Given the description of an element on the screen output the (x, y) to click on. 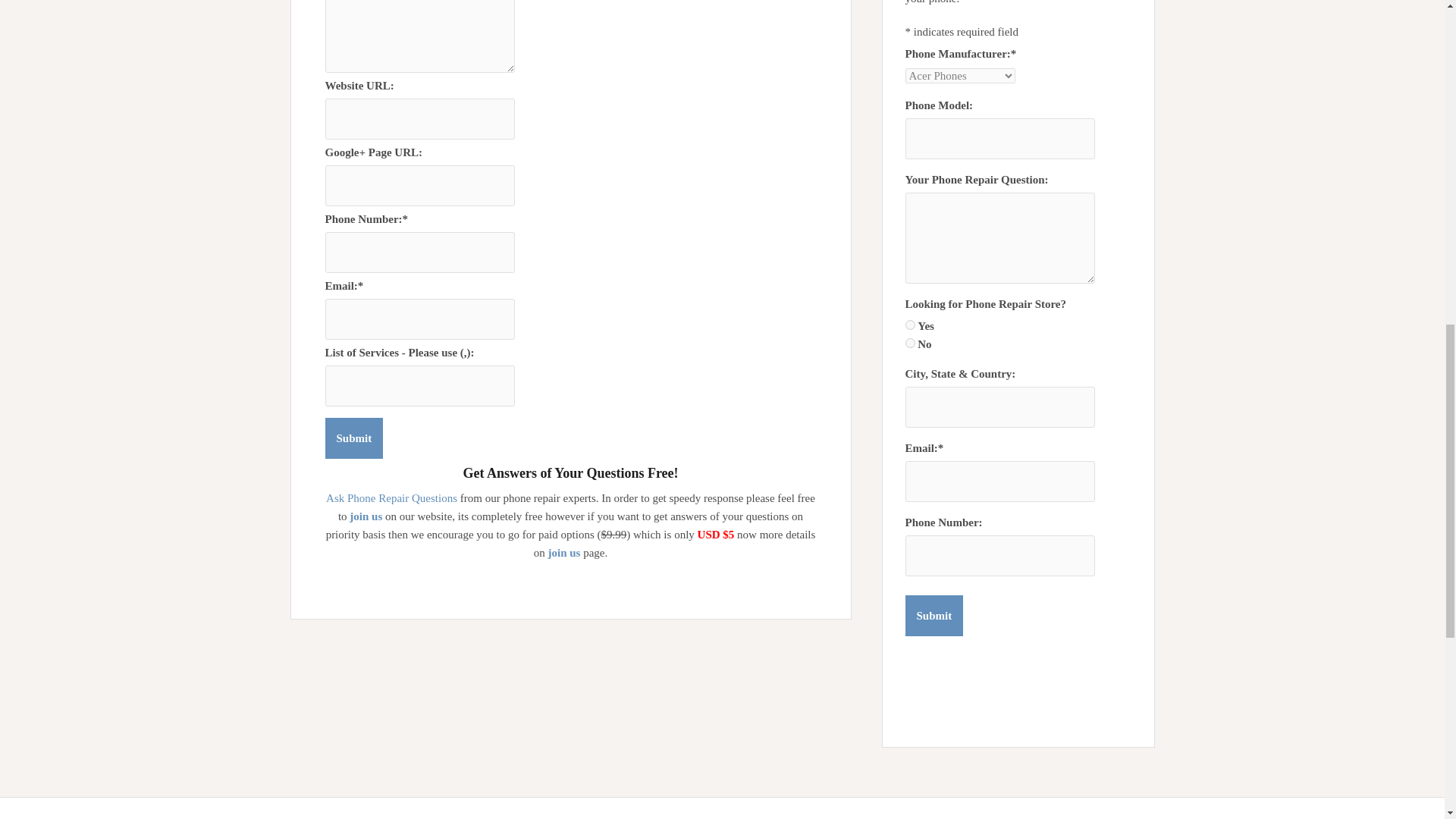
Submit (353, 437)
join us (563, 552)
Submit (353, 437)
Submit (934, 615)
2 (910, 343)
join us (365, 516)
Ask Phone Repair Questions (391, 498)
1 (910, 325)
